Given the description of an element on the screen output the (x, y) to click on. 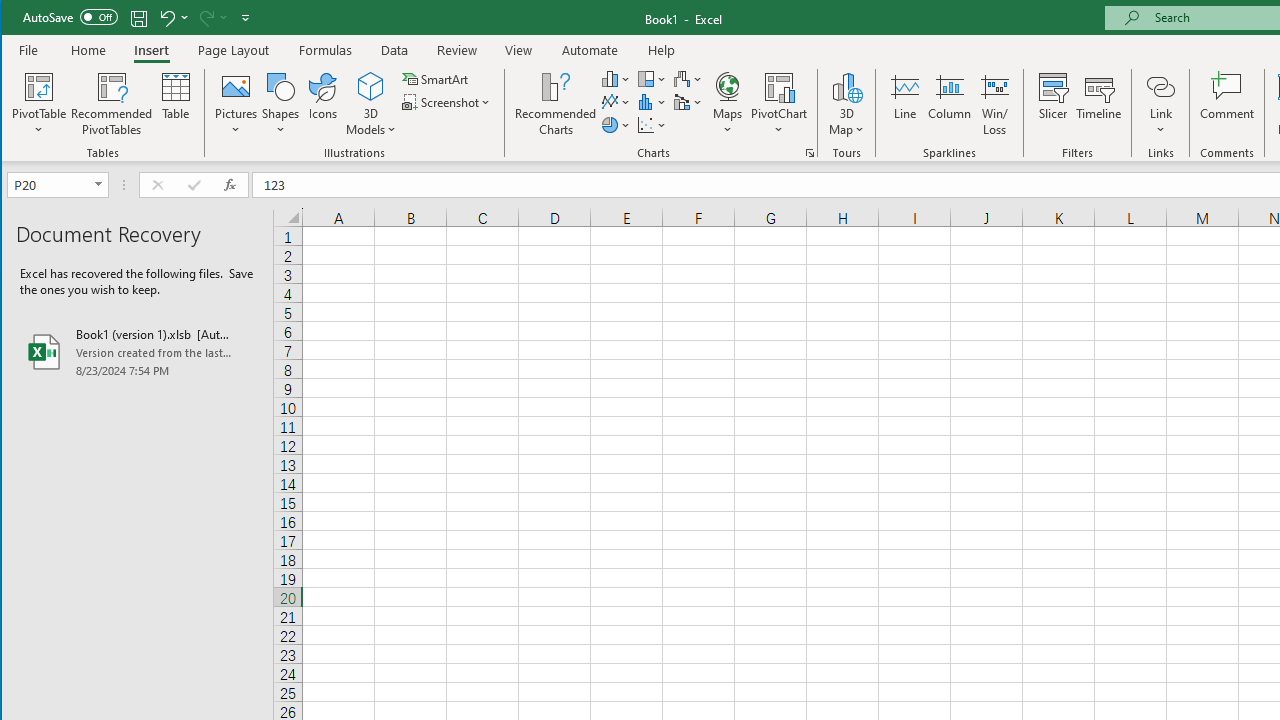
Recommended PivotTables (111, 104)
Screenshot (447, 101)
PivotChart (779, 104)
Shapes (280, 104)
Insert Pie or Doughnut Chart (616, 124)
Comment (1227, 104)
3D Map (846, 86)
Timeline (1098, 104)
Insert Combo Chart (688, 101)
Insert Hierarchy Chart (652, 78)
3D Map (846, 104)
